Given the description of an element on the screen output the (x, y) to click on. 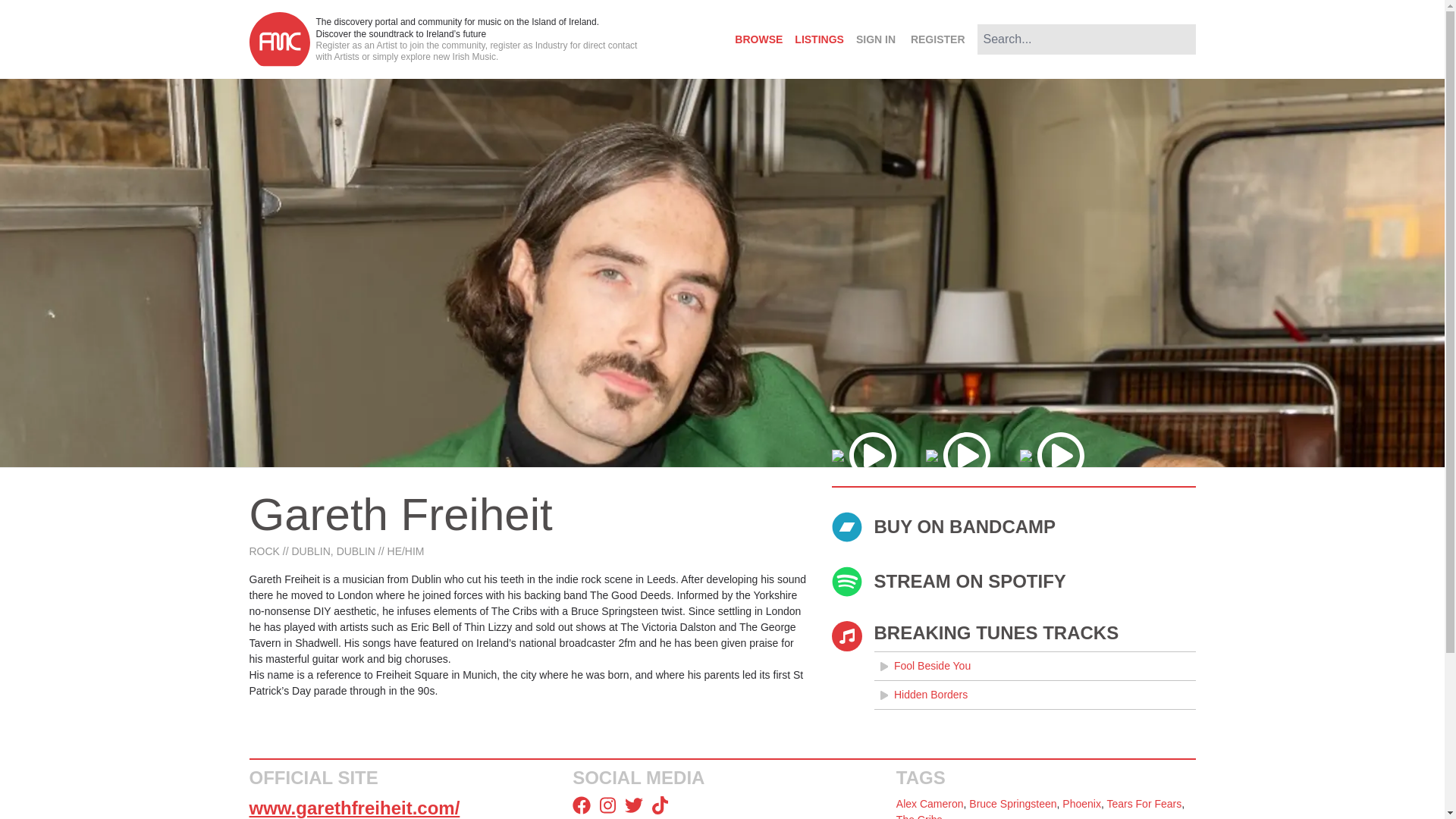
Hidden Borders (1034, 694)
Tears For Fears (1143, 803)
The Cribs (919, 816)
Fool Beside You (1034, 665)
REGISTER (937, 39)
SIGN IN (875, 39)
Alex Cameron (929, 803)
BUY ON BANDCAMP (1013, 526)
LISTINGS (819, 39)
Phoenix (1081, 803)
Bruce Springsteen (1013, 803)
BROWSE (759, 39)
STREAM ON SPOTIFY (1013, 581)
